Given the description of an element on the screen output the (x, y) to click on. 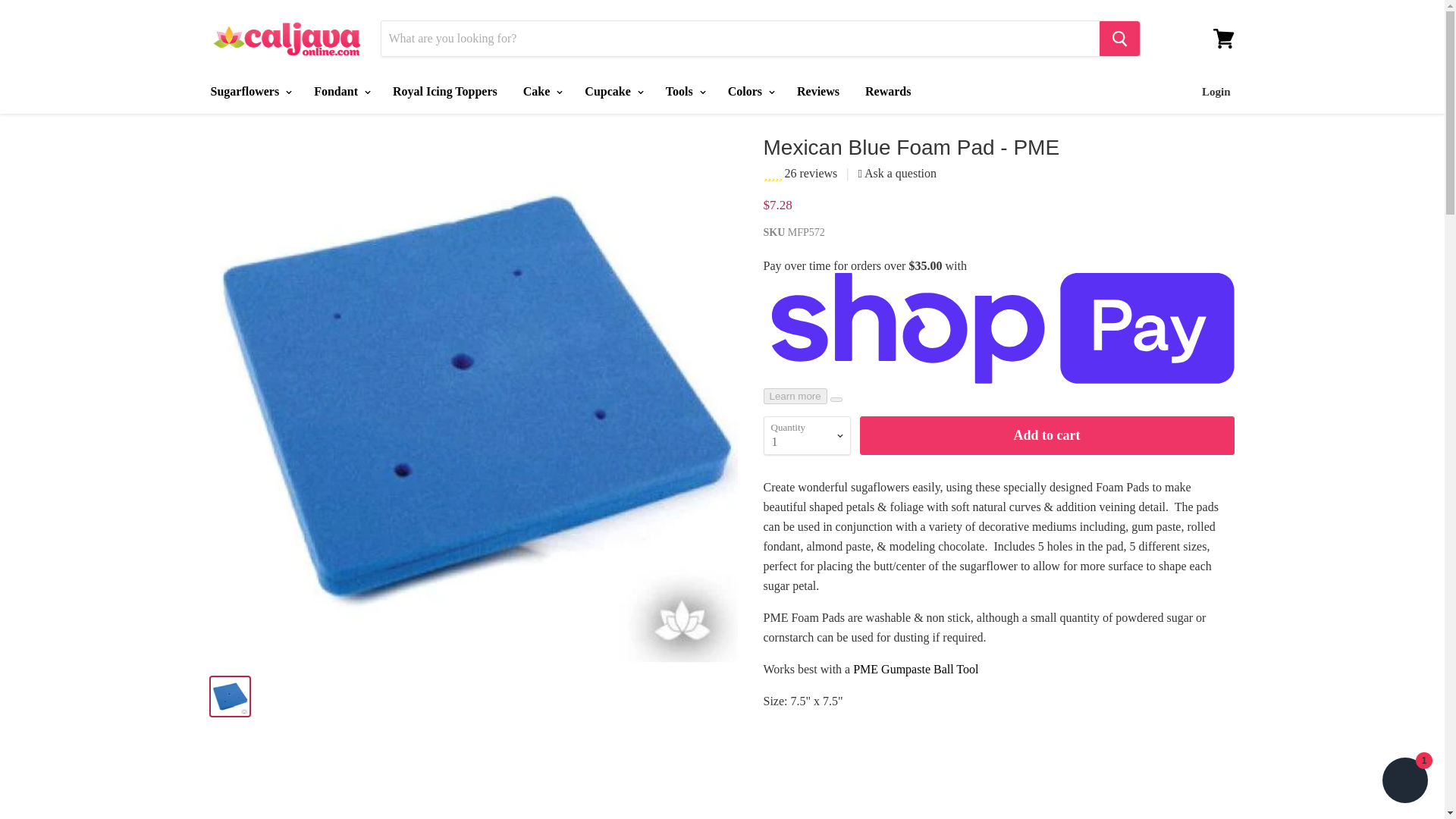
Sugarflowers (248, 91)
Shopify online store chat (1404, 781)
View cart (1223, 38)
PME Gumpaste Ball Tool.  Gumpaste tool.  Modeling tool (915, 668)
